Given the description of an element on the screen output the (x, y) to click on. 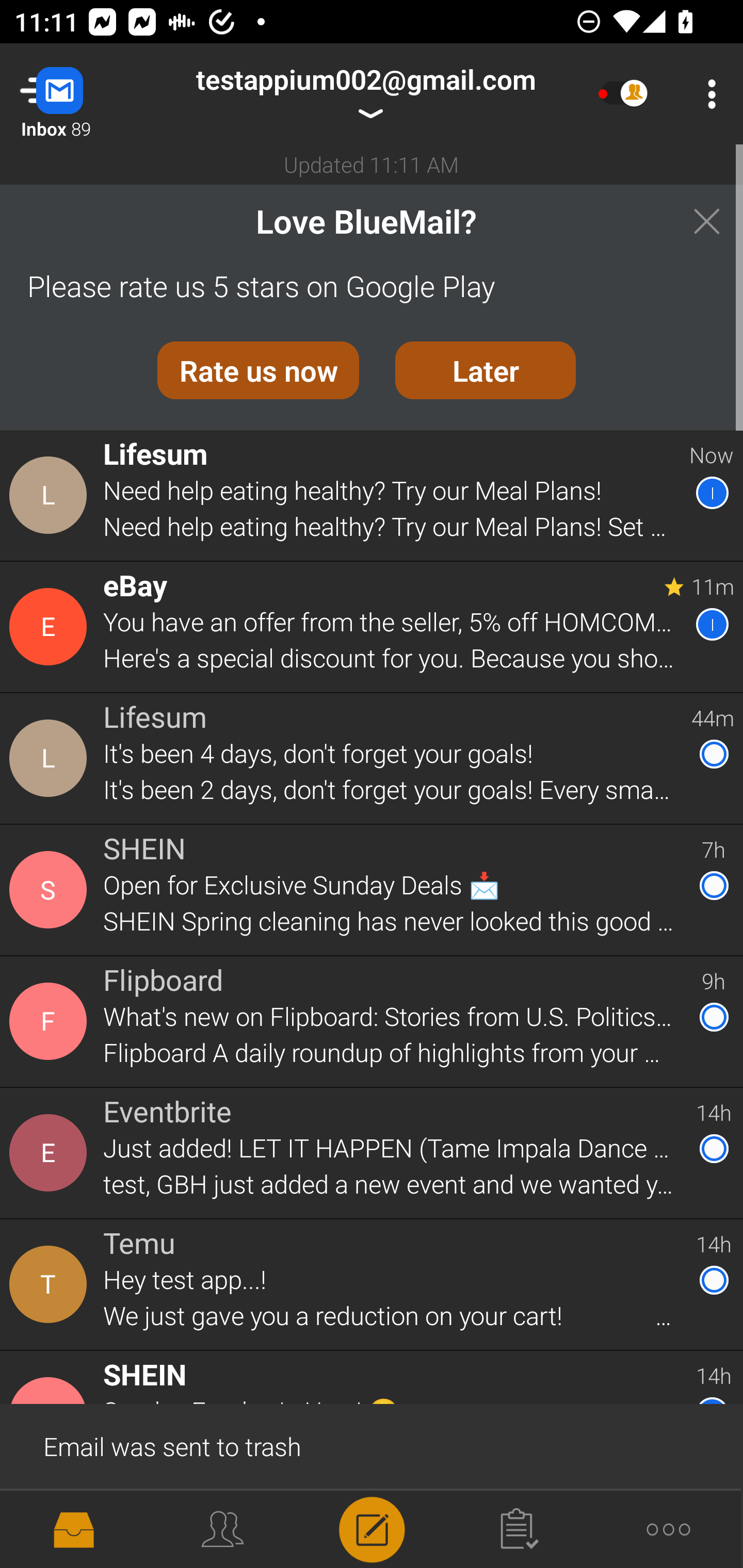
Navigate up (81, 93)
testappium002@gmail.com (365, 93)
More Options (706, 93)
Updated 11:11 AM (371, 164)
Rate us now (257, 370)
Later (485, 370)
Contact Details (50, 495)
Contact Details (50, 626)
Contact Details (50, 758)
Contact Details (50, 889)
Contact Details (50, 1021)
Contact Details (50, 1153)
Contact Details (50, 1284)
Email was sent to trash (371, 1445)
Contact Details (50, 1524)
Compose (371, 1528)
